Given the description of an element on the screen output the (x, y) to click on. 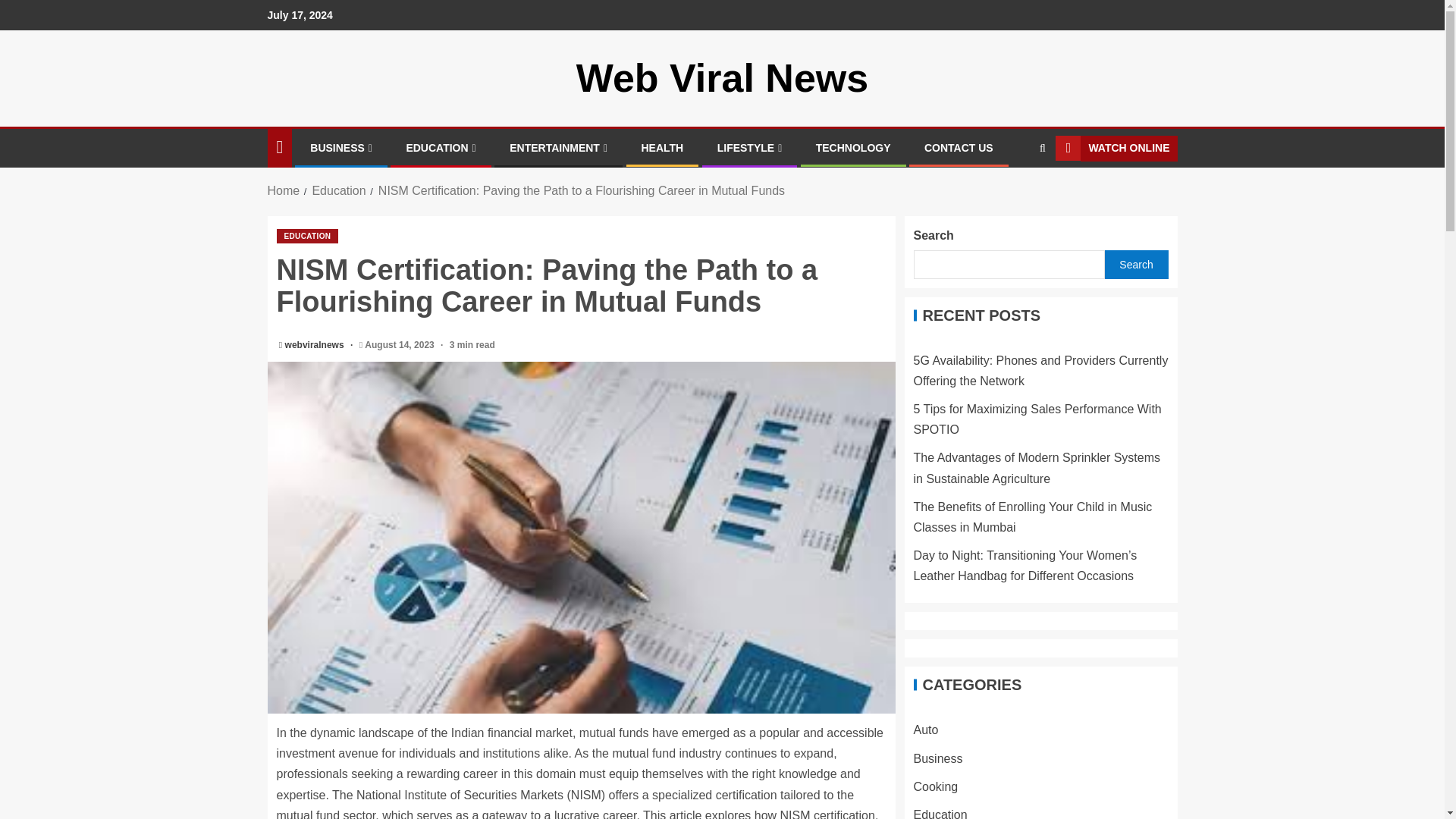
LIFESTYLE (750, 147)
Web Viral News (721, 77)
Home (282, 190)
Search (1013, 194)
Education (338, 190)
CONTACT US (958, 147)
EDUCATION (441, 147)
EDUCATION (306, 236)
HEALTH (663, 147)
webviralnews (315, 344)
ENTERTAINMENT (558, 147)
BUSINESS (341, 147)
WATCH ONLINE (1115, 148)
TECHNOLOGY (853, 147)
